Given the description of an element on the screen output the (x, y) to click on. 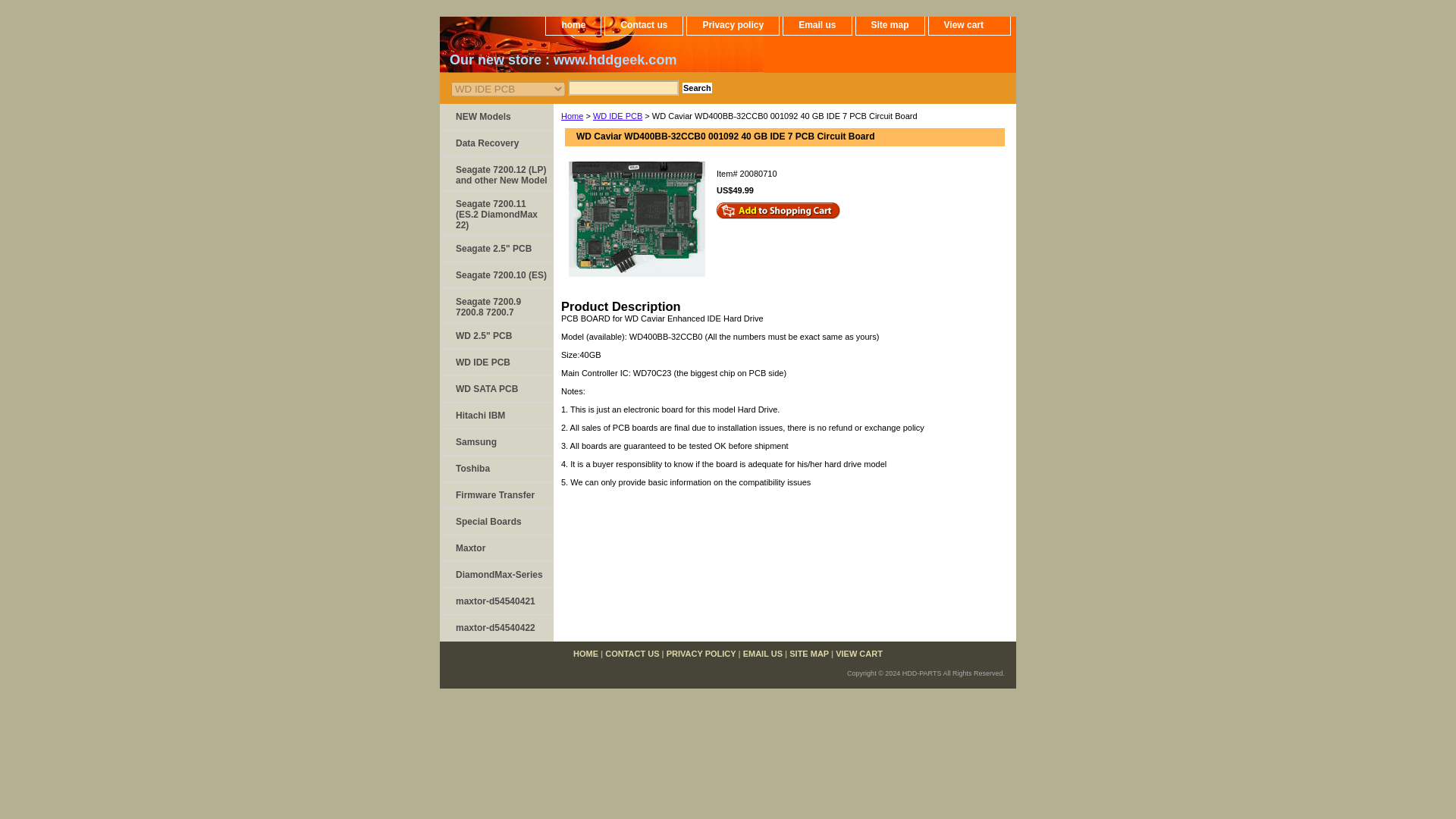
Data Recovery (496, 143)
DiamondMax-Series (496, 574)
maxtor-d54540421 (496, 601)
Special Boards (496, 521)
EMAIL US (762, 653)
DiamondMax-Series (496, 574)
Privacy policy (732, 25)
Contact us (643, 25)
Site map (889, 25)
